Given the description of an element on the screen output the (x, y) to click on. 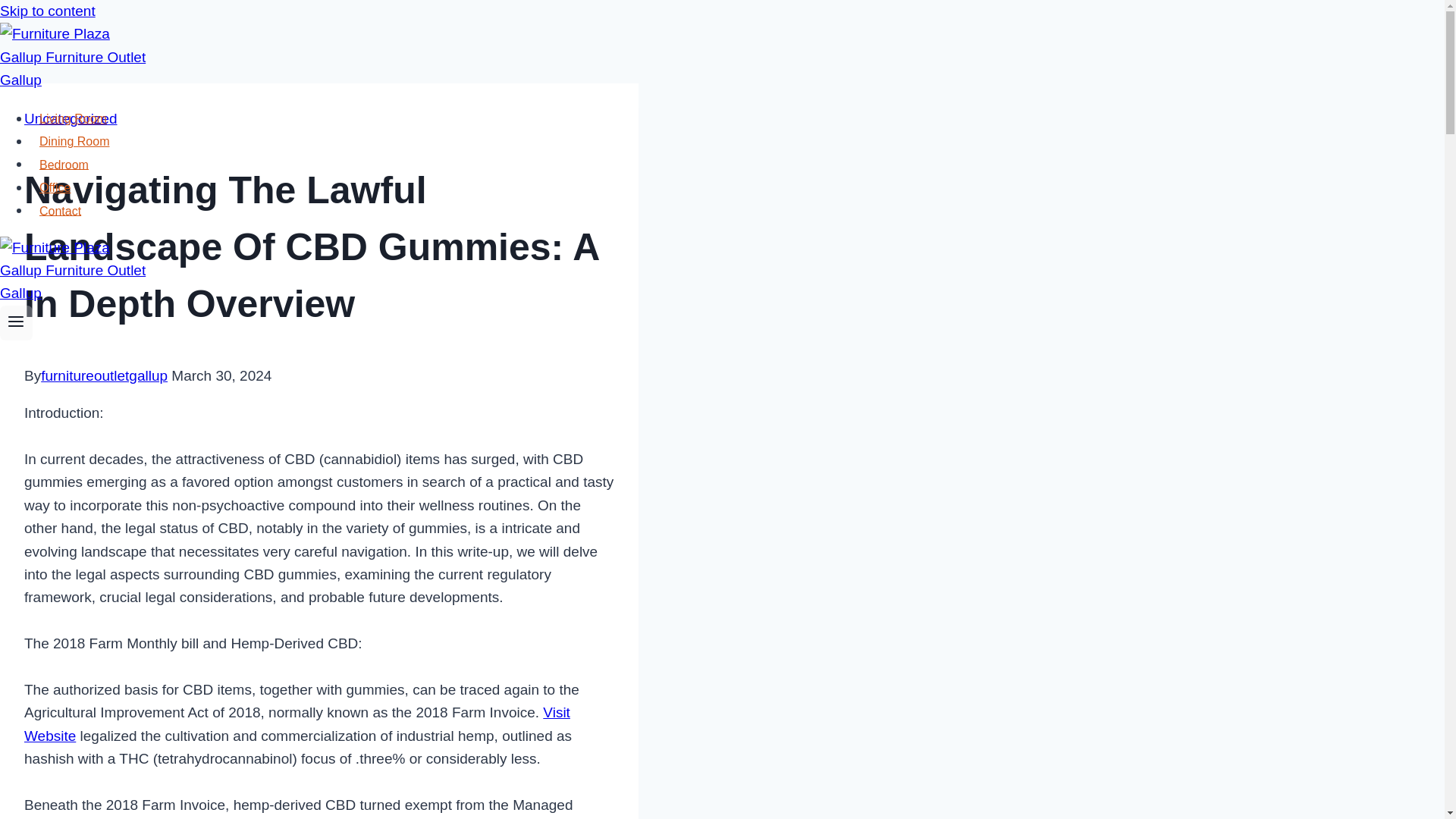
Dining Room (73, 140)
Toggle Menu (16, 322)
Contact (60, 210)
Uncategorized (70, 118)
Office (55, 186)
Visit Website (297, 723)
Skip to content (48, 10)
Skip to content (48, 10)
furnitureoutletgallup (103, 375)
Toggle Menu (15, 321)
Living Room (73, 117)
Bedroom (63, 164)
